Given the description of an element on the screen output the (x, y) to click on. 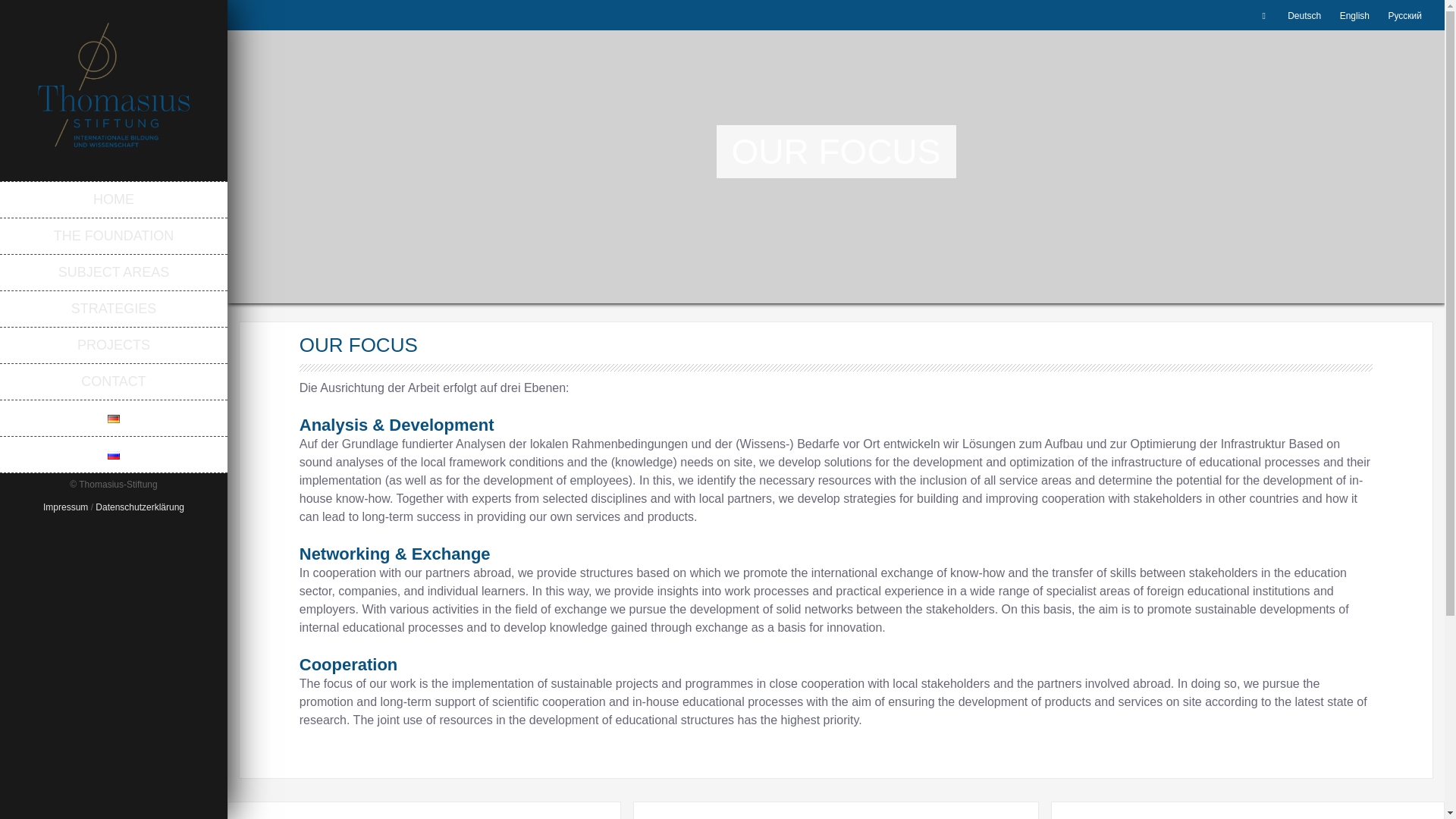
SUBJECT AREAS (113, 271)
STRATEGIES (113, 308)
PROJECTS (113, 344)
Impressum (65, 507)
THE FOUNDATION (113, 235)
HOME (113, 198)
CONTACT (113, 381)
